Given the description of an element on the screen output the (x, y) to click on. 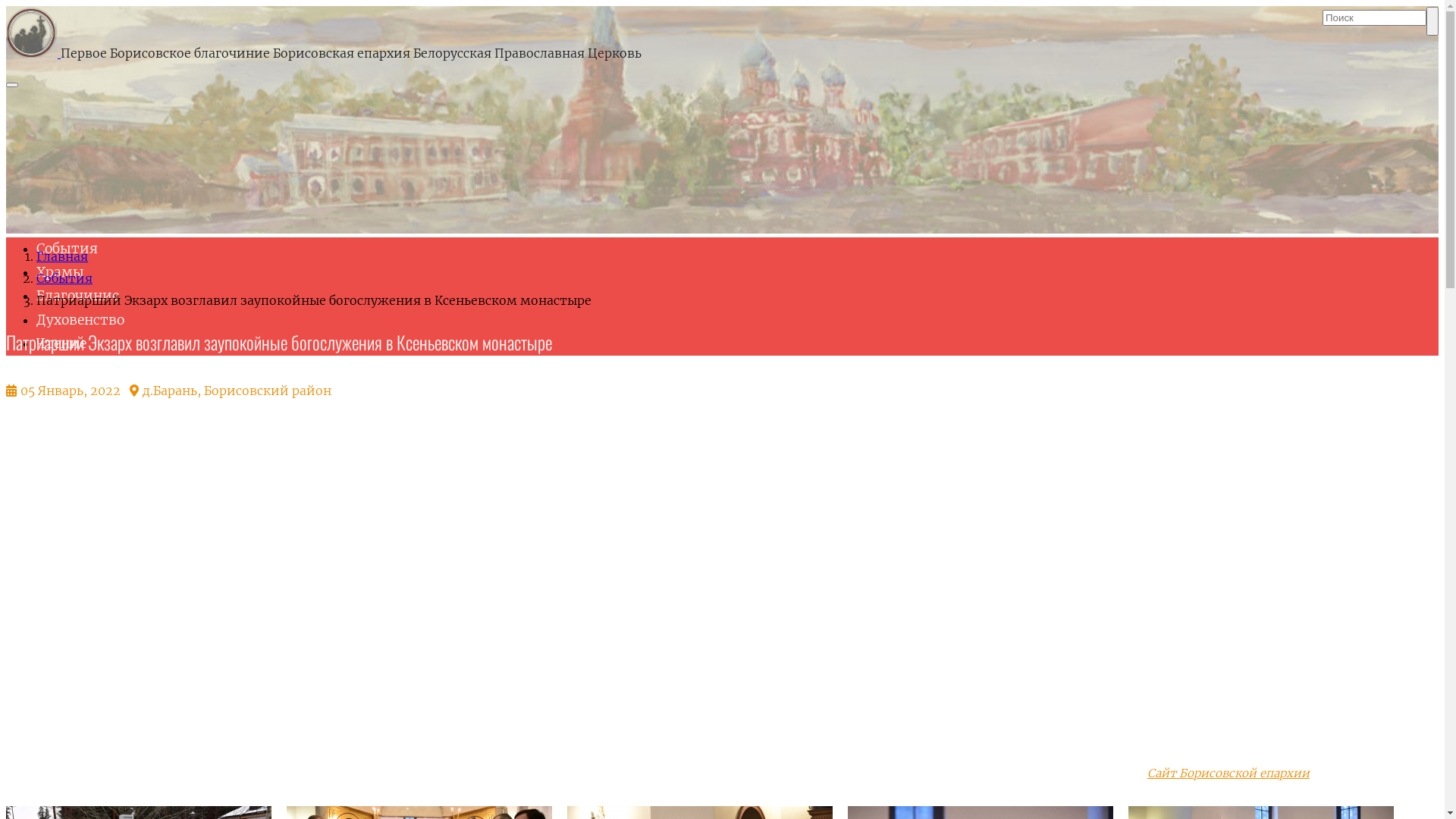
Toggle navigation Element type: text (12, 84)
